Given the description of an element on the screen output the (x, y) to click on. 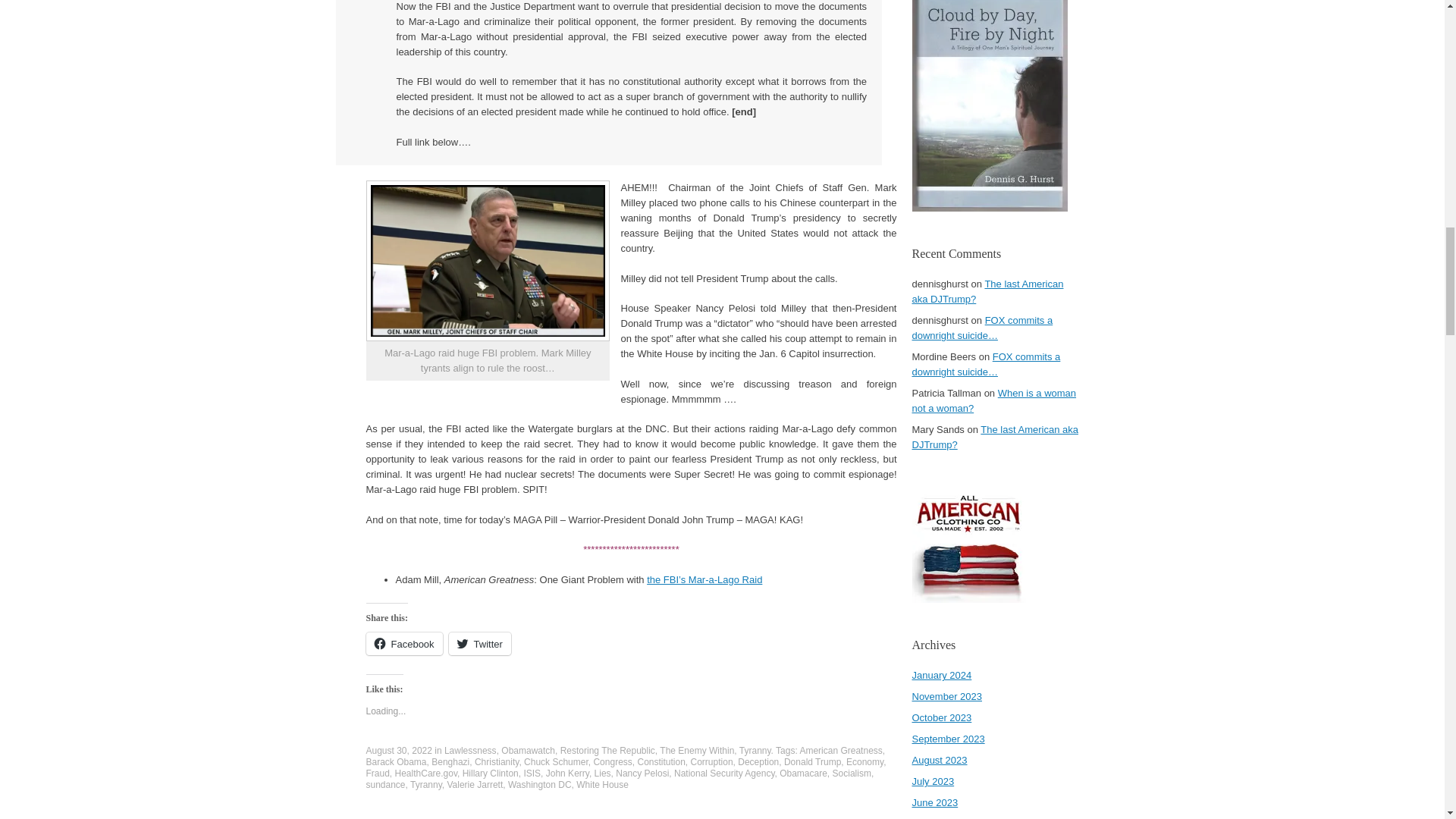
August 30, 2022 (397, 750)
Lawlessness (470, 750)
Chuck Schumer (556, 761)
Twitter (479, 643)
American Greatness (840, 750)
Click to share on Facebook (403, 643)
Facebook (403, 643)
Click to share on Twitter (479, 643)
Obamawatch (527, 750)
Barack Obama (395, 761)
